Given the description of an element on the screen output the (x, y) to click on. 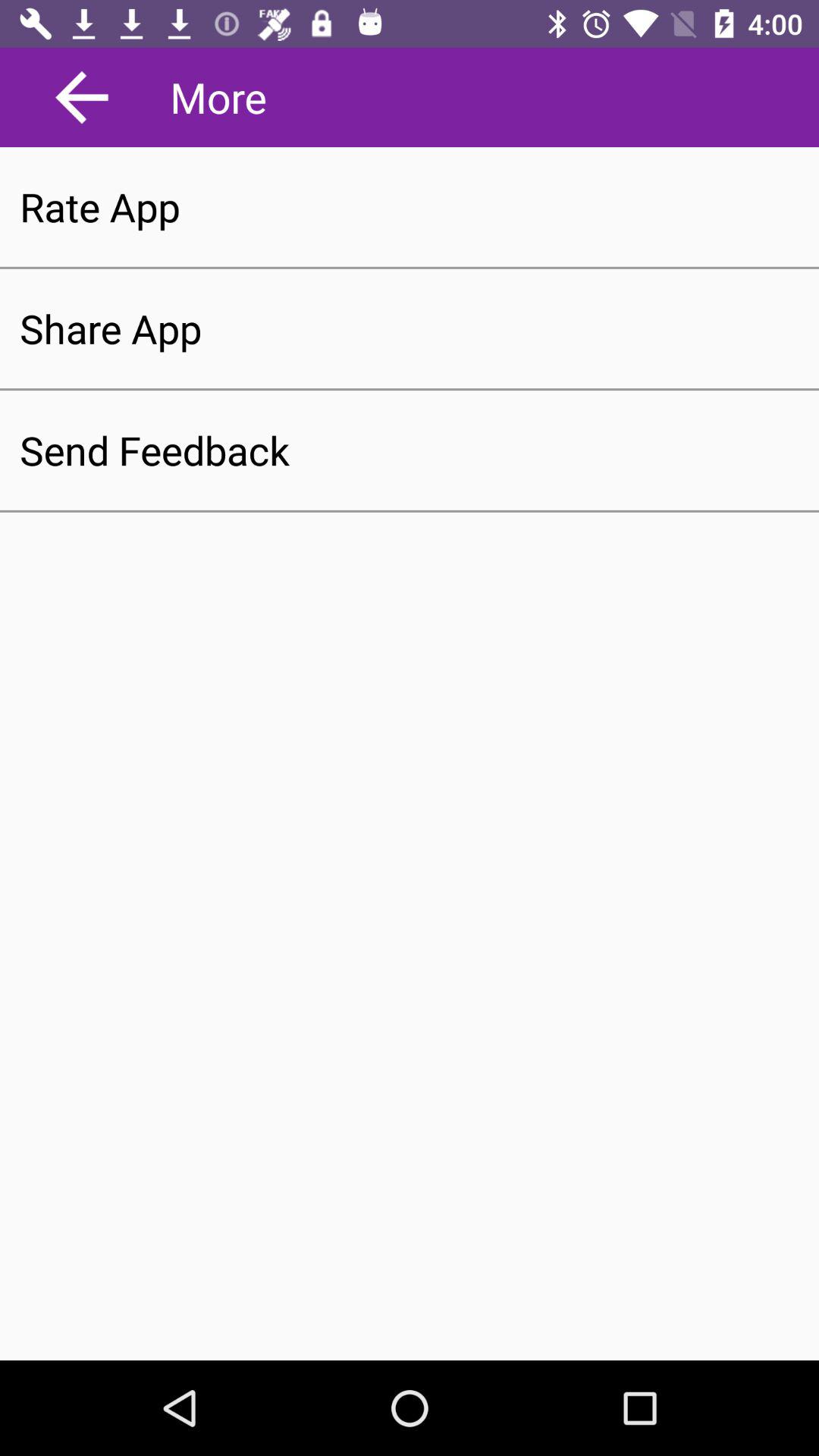
open the rate app item (409, 206)
